Given the description of an element on the screen output the (x, y) to click on. 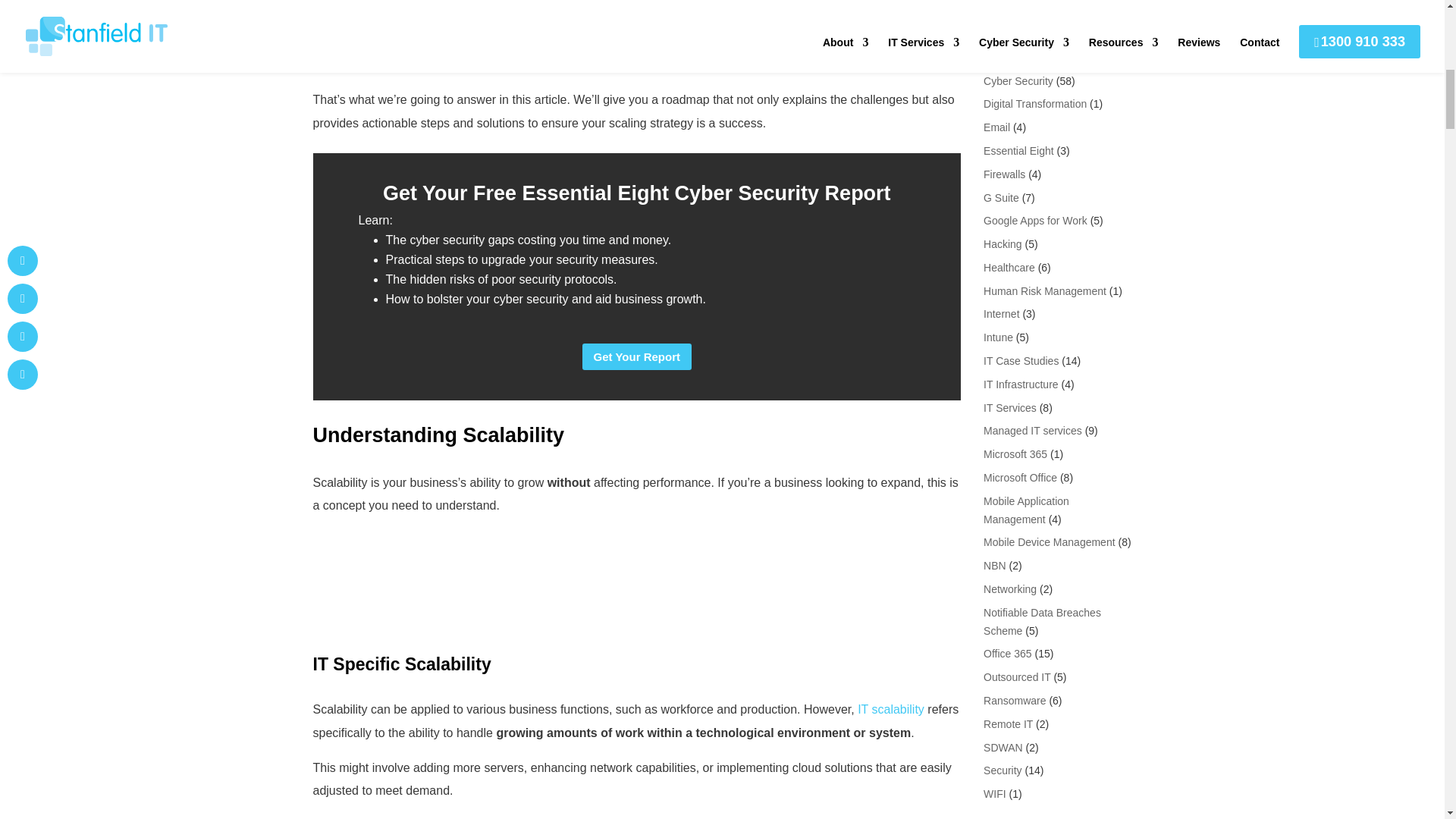
Scalability Definition (636, 582)
Get Your Report (636, 356)
IT scalability (890, 708)
technological solutions (524, 6)
